Given the description of an element on the screen output the (x, y) to click on. 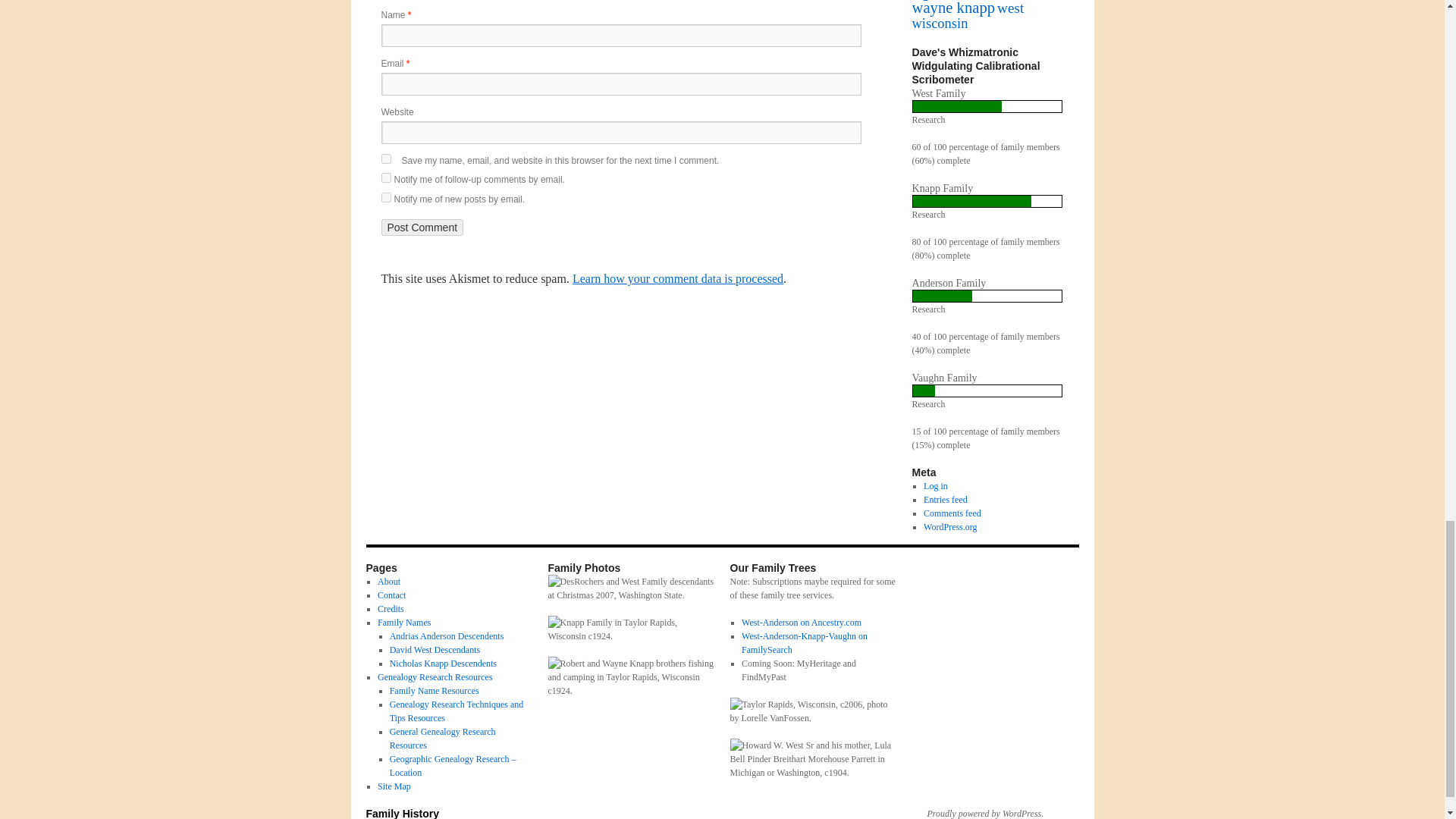
yes (385, 158)
subscribe (385, 177)
subscribe (385, 197)
Post Comment (421, 227)
